Given the description of an element on the screen output the (x, y) to click on. 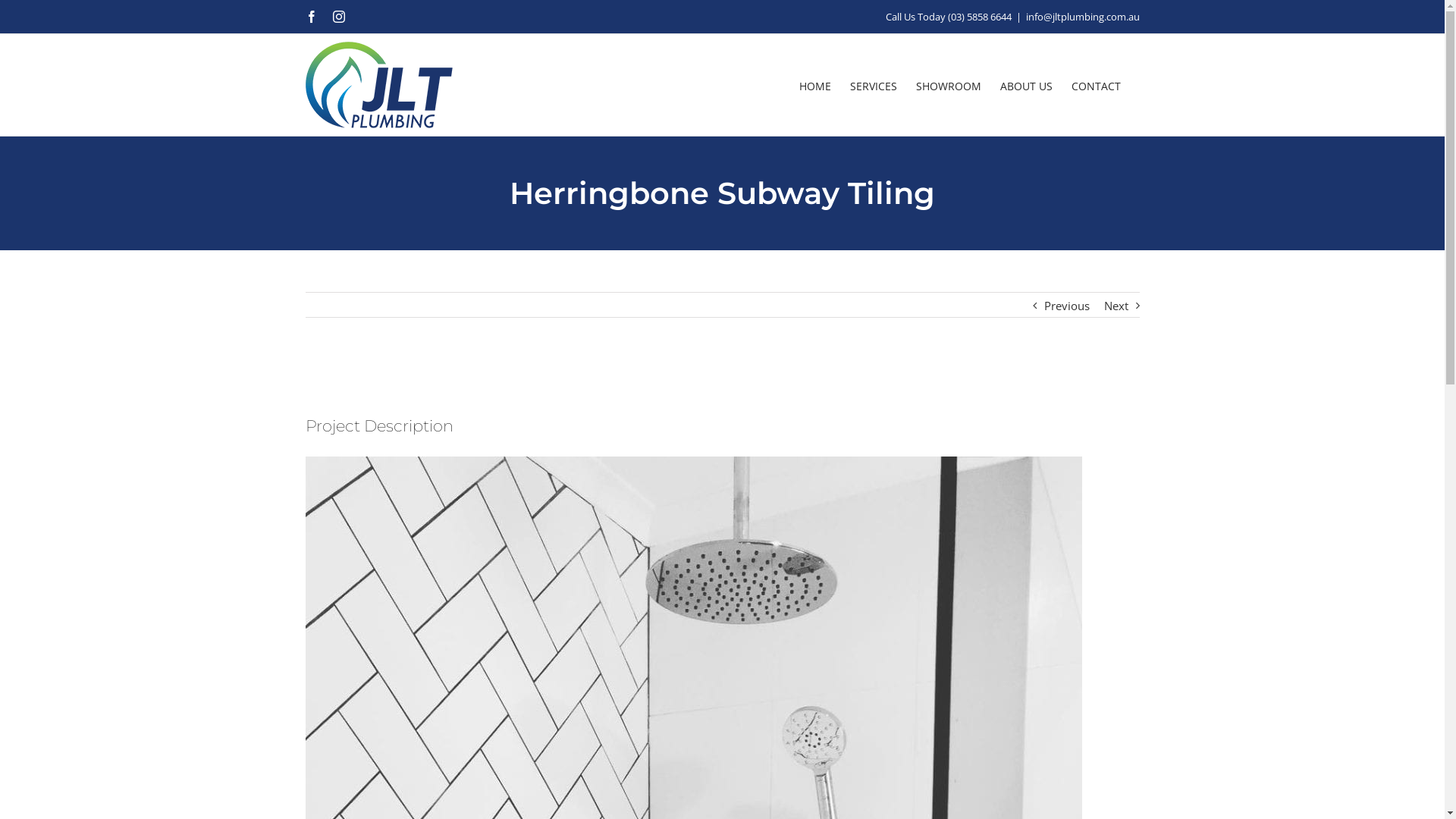
Next Element type: text (1116, 305)
SHOWROOM Element type: text (948, 84)
info@jltplumbing.com.au Element type: text (1082, 16)
Instagram Element type: text (338, 16)
ABOUT US Element type: text (1025, 84)
CONTACT Element type: text (1095, 84)
HOME Element type: text (815, 84)
SERVICES Element type: text (872, 84)
Previous Element type: text (1065, 305)
Facebook Element type: text (310, 16)
